Given the description of an element on the screen output the (x, y) to click on. 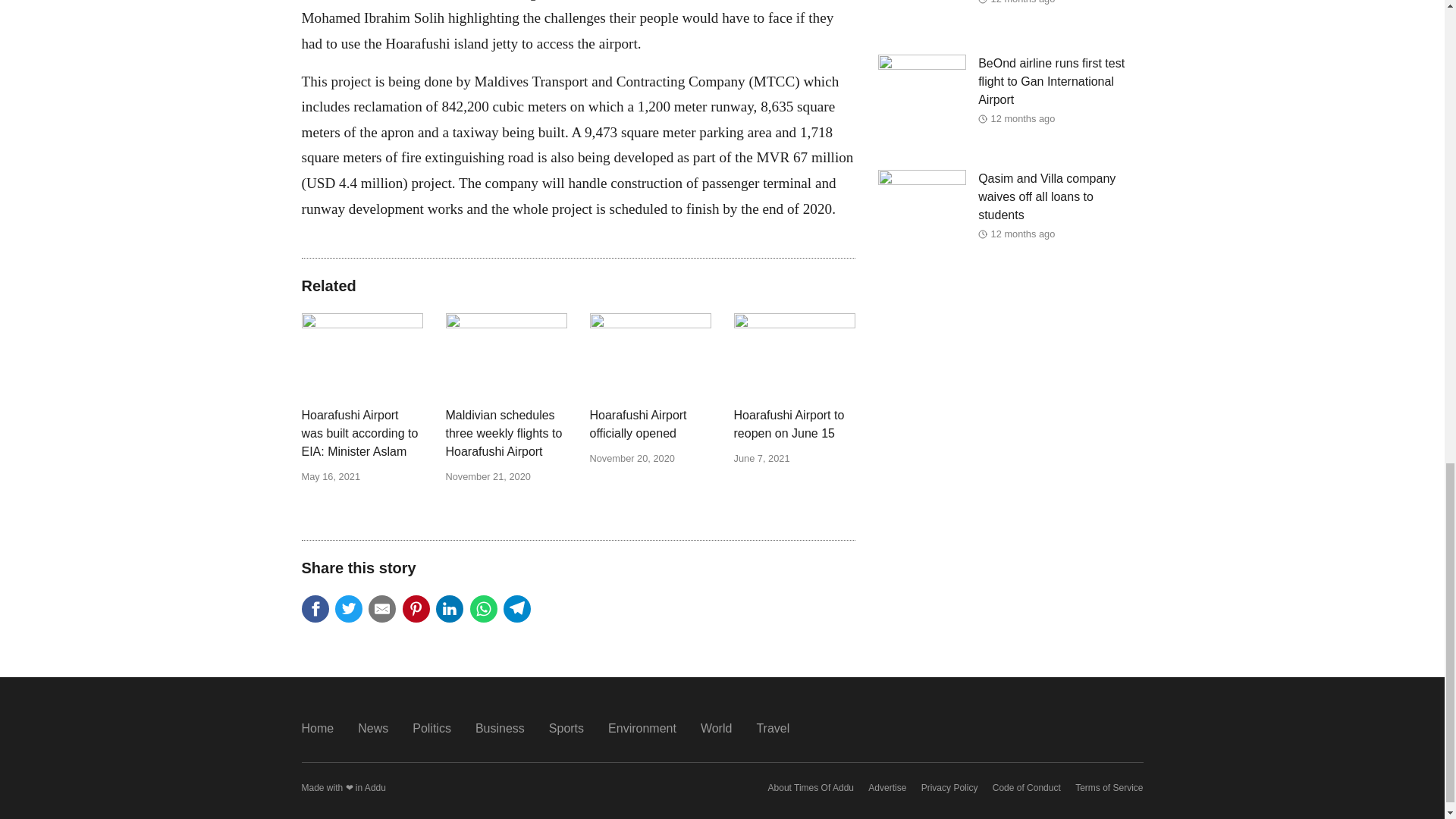
Aug 14, 2023, 18:18 (1023, 2)
Aug 10, 2023, 09:36 (1023, 233)
Hoarafushi Airport officially opened (650, 424)
Aug 14, 2023, 18:11 (1023, 118)
Advertisement (1009, 409)
Hoarafushi Airport to reopen on June 15 (794, 424)
